Given the description of an element on the screen output the (x, y) to click on. 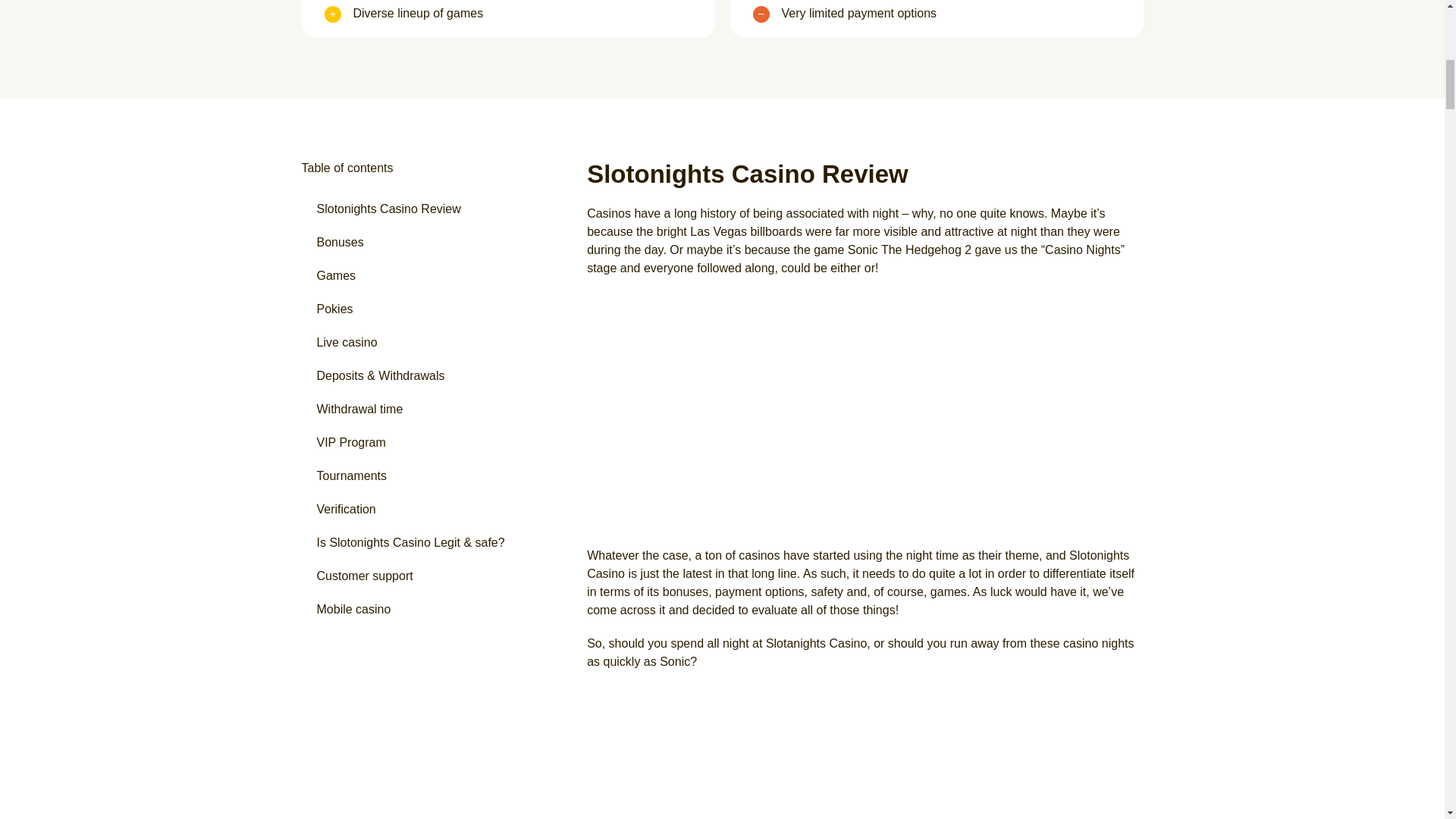
YouTube video player (864, 411)
